Given the description of an element on the screen output the (x, y) to click on. 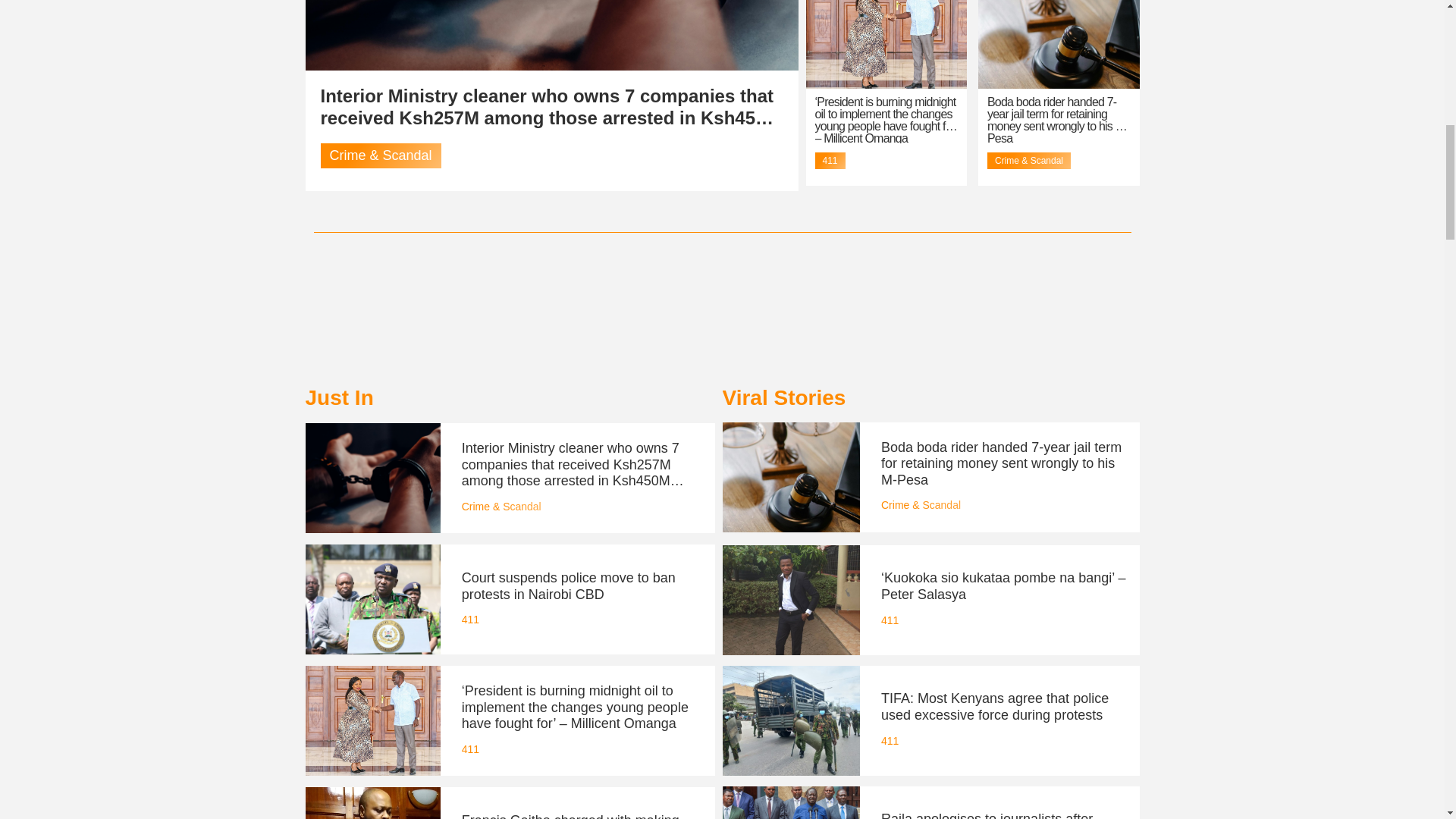
Court suspends police move to ban protests in Nairobi CBD (568, 585)
